Given the description of an element on the screen output the (x, y) to click on. 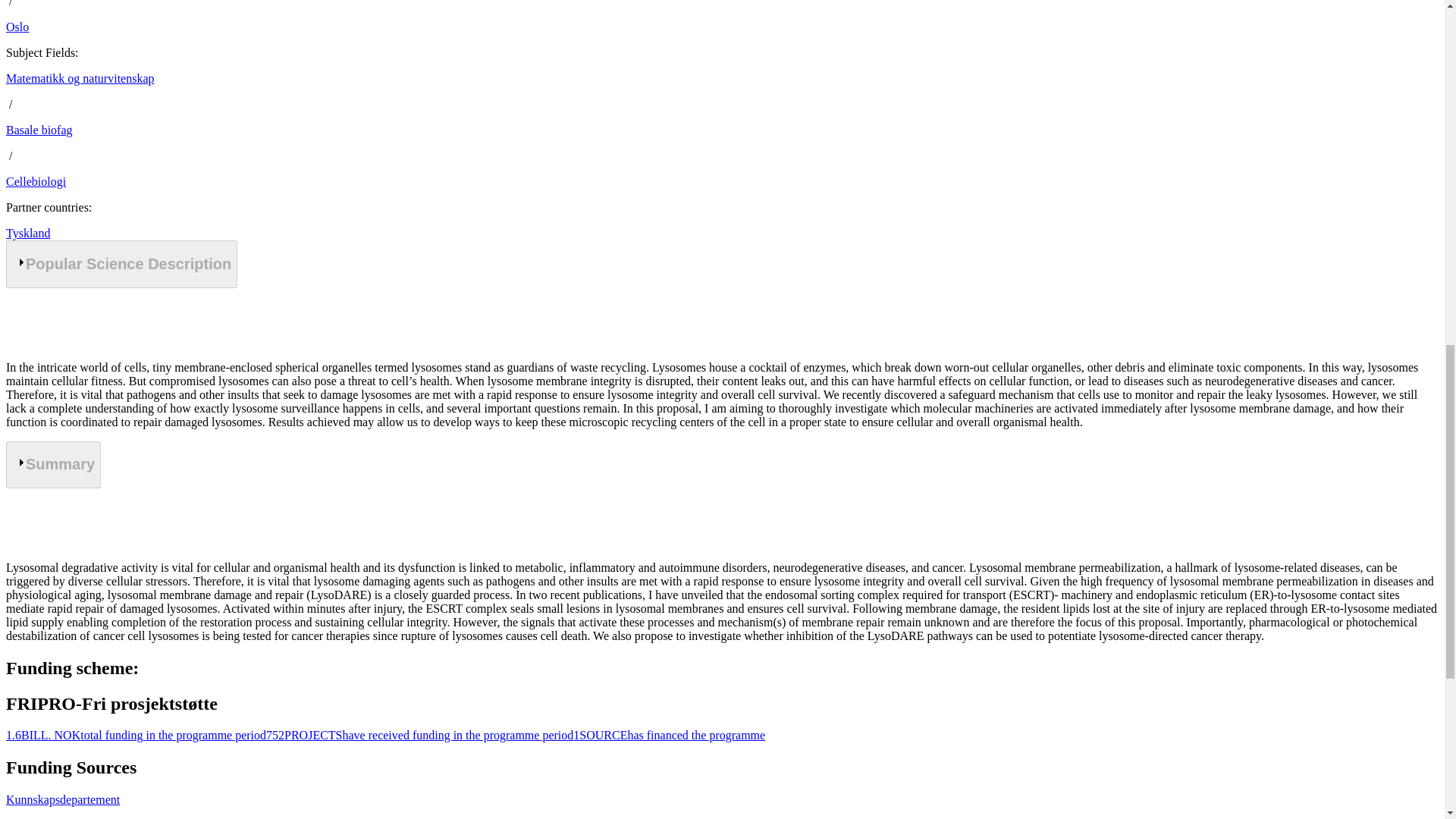
Popular Science Description (121, 263)
Cellebiologi (35, 181)
Tyskland (27, 232)
1SOURCEhas financed the programme (669, 735)
Oslo (17, 26)
Matematikk og naturvitenskap (79, 78)
Kunnskapsdepartement (62, 799)
1.6BILL. NOKtotal funding in the programme period (135, 735)
Summary (52, 464)
752PROJECTShave received funding in the programme period (419, 735)
Basale biofag (38, 129)
